Given the description of an element on the screen output the (x, y) to click on. 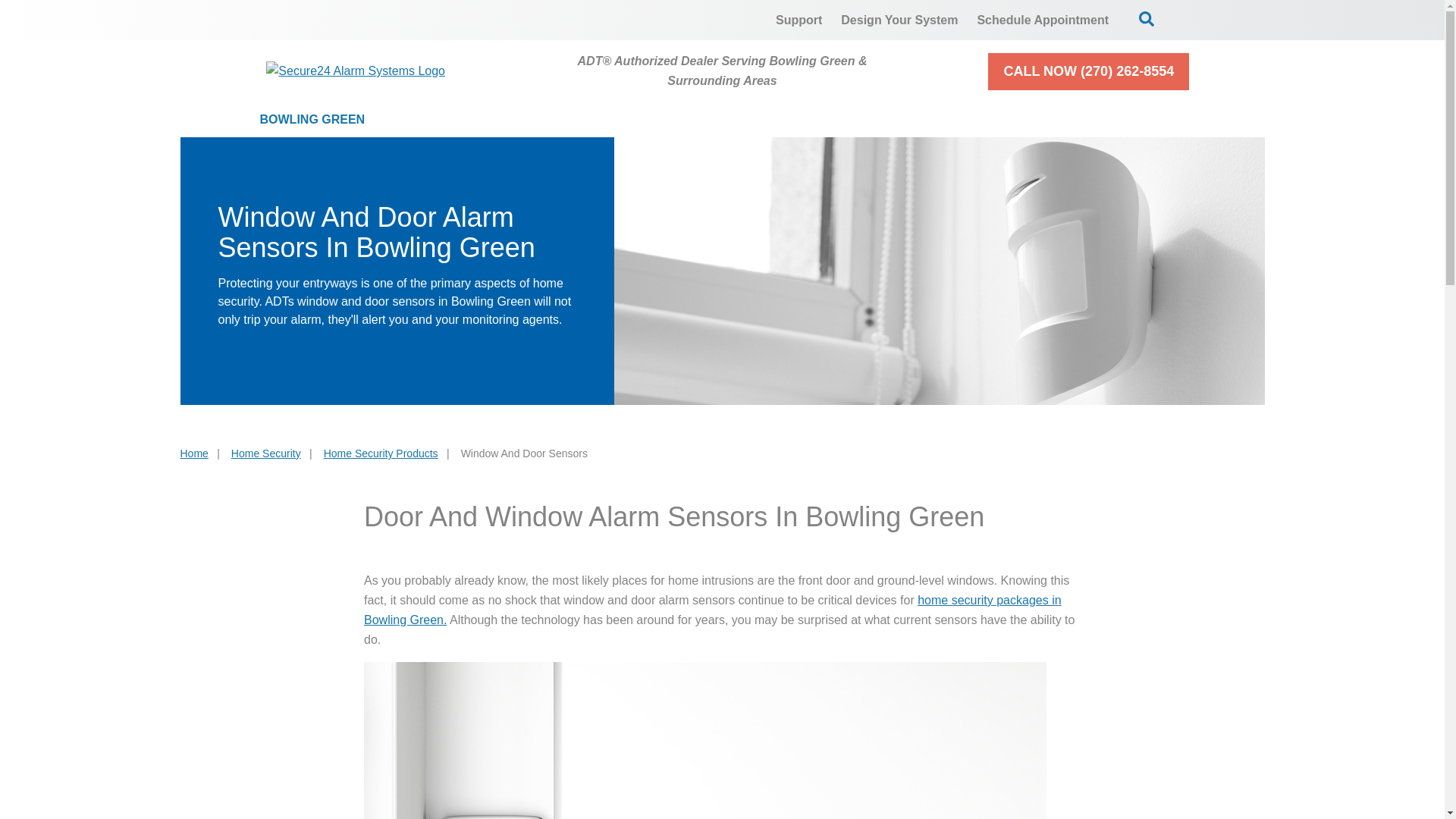
Open Search (1146, 18)
Schedule Appointment (1042, 20)
Secure24 Alarm Systems Home (355, 71)
Cameras (616, 119)
Support (798, 20)
Design Your System (898, 20)
Home Automation (767, 119)
Home Security (473, 119)
